Given the description of an element on the screen output the (x, y) to click on. 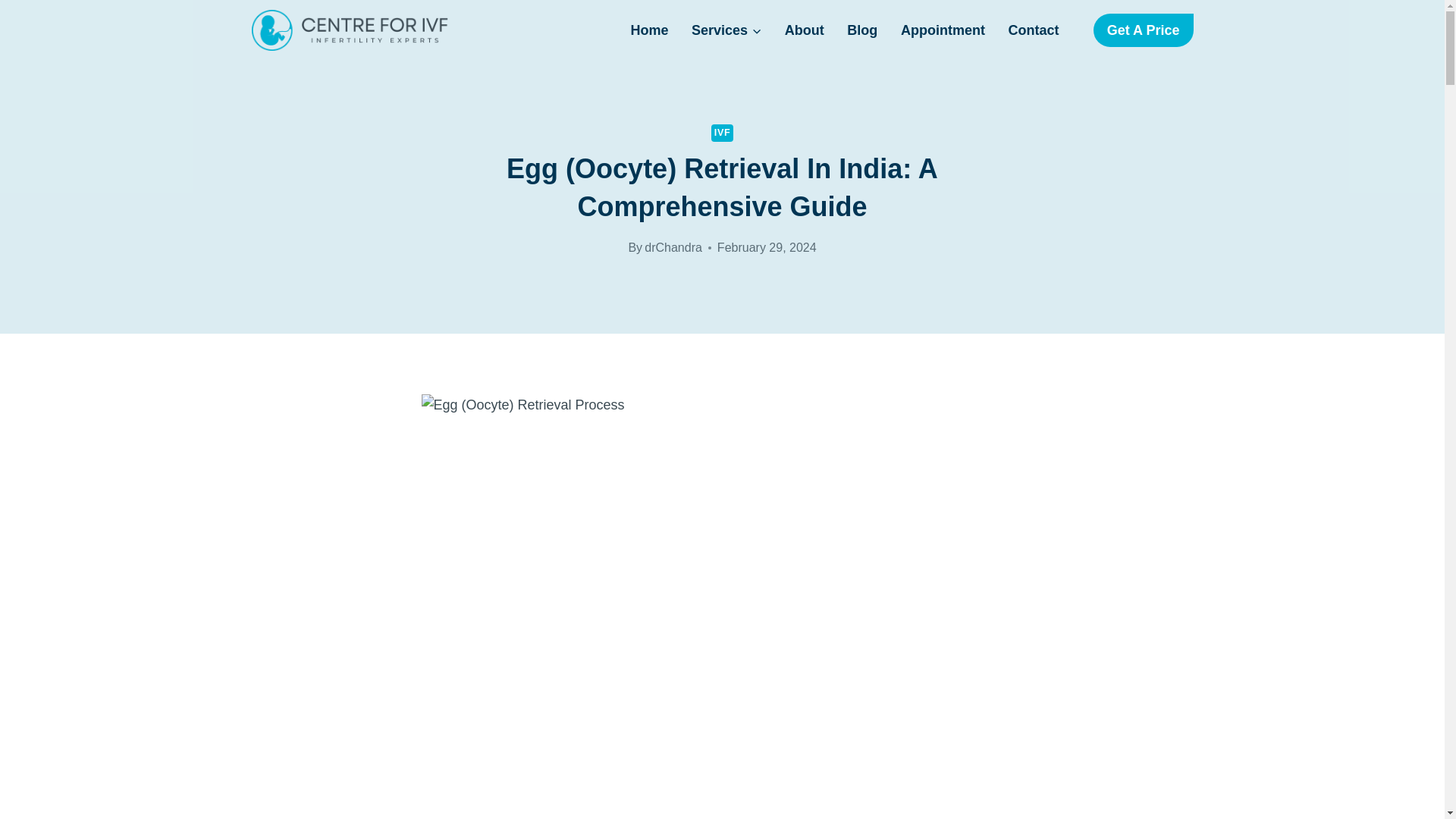
Contact (1032, 30)
Home (648, 30)
Services (726, 30)
Blog (862, 30)
Get A Price (1143, 29)
About (804, 30)
Appointment (943, 30)
drChandra (673, 246)
IVF (722, 132)
